Given the description of an element on the screen output the (x, y) to click on. 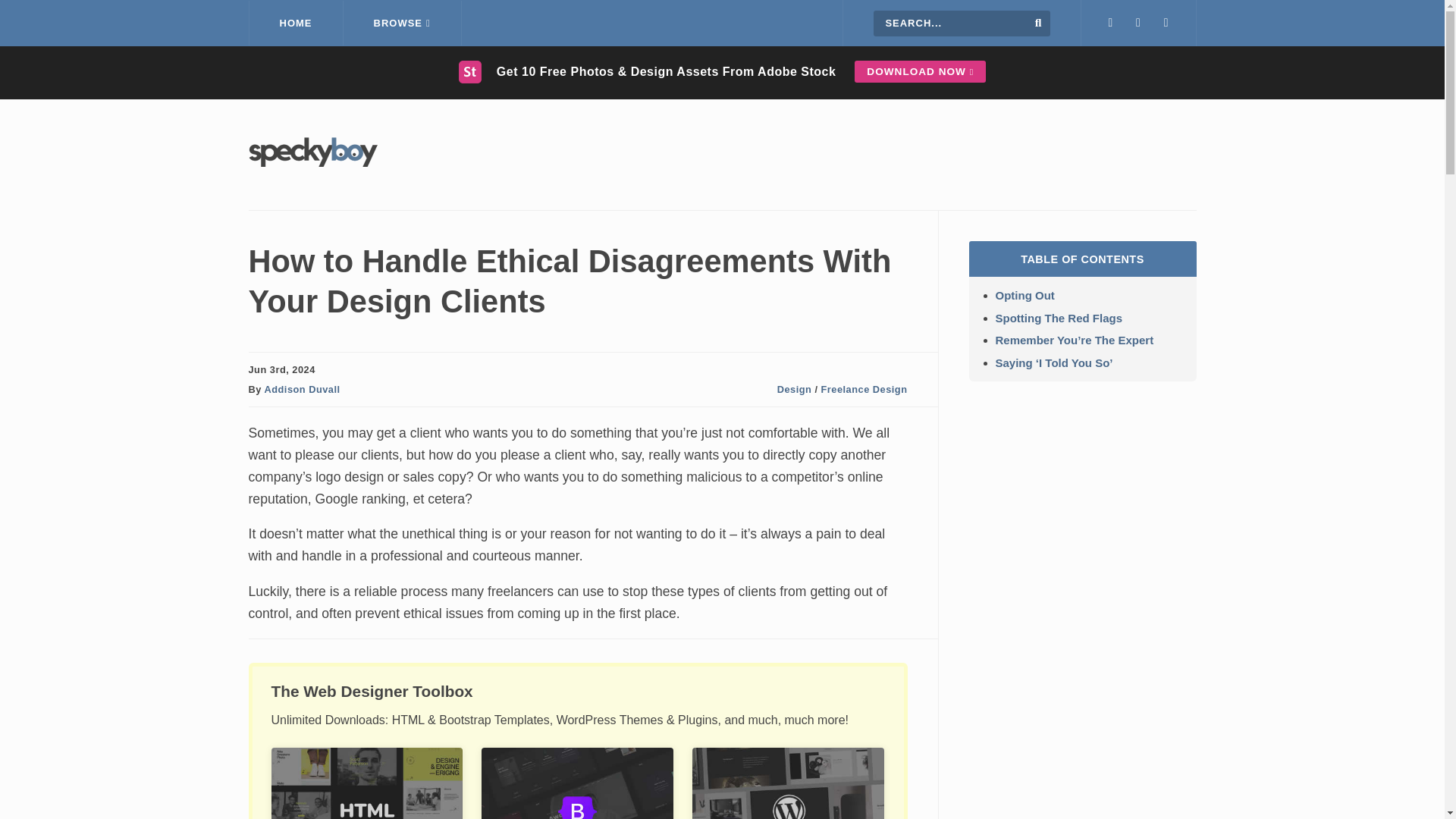
Speckyboy Design Magazine (312, 162)
OUR FACEBOOK PAGE (1138, 23)
RSS FEED (1166, 23)
BROWSE (401, 22)
HOME (295, 22)
Search (1038, 22)
OUR TWITTER PAGE (1110, 23)
Posts by Addison Duvall (301, 389)
